Given the description of an element on the screen output the (x, y) to click on. 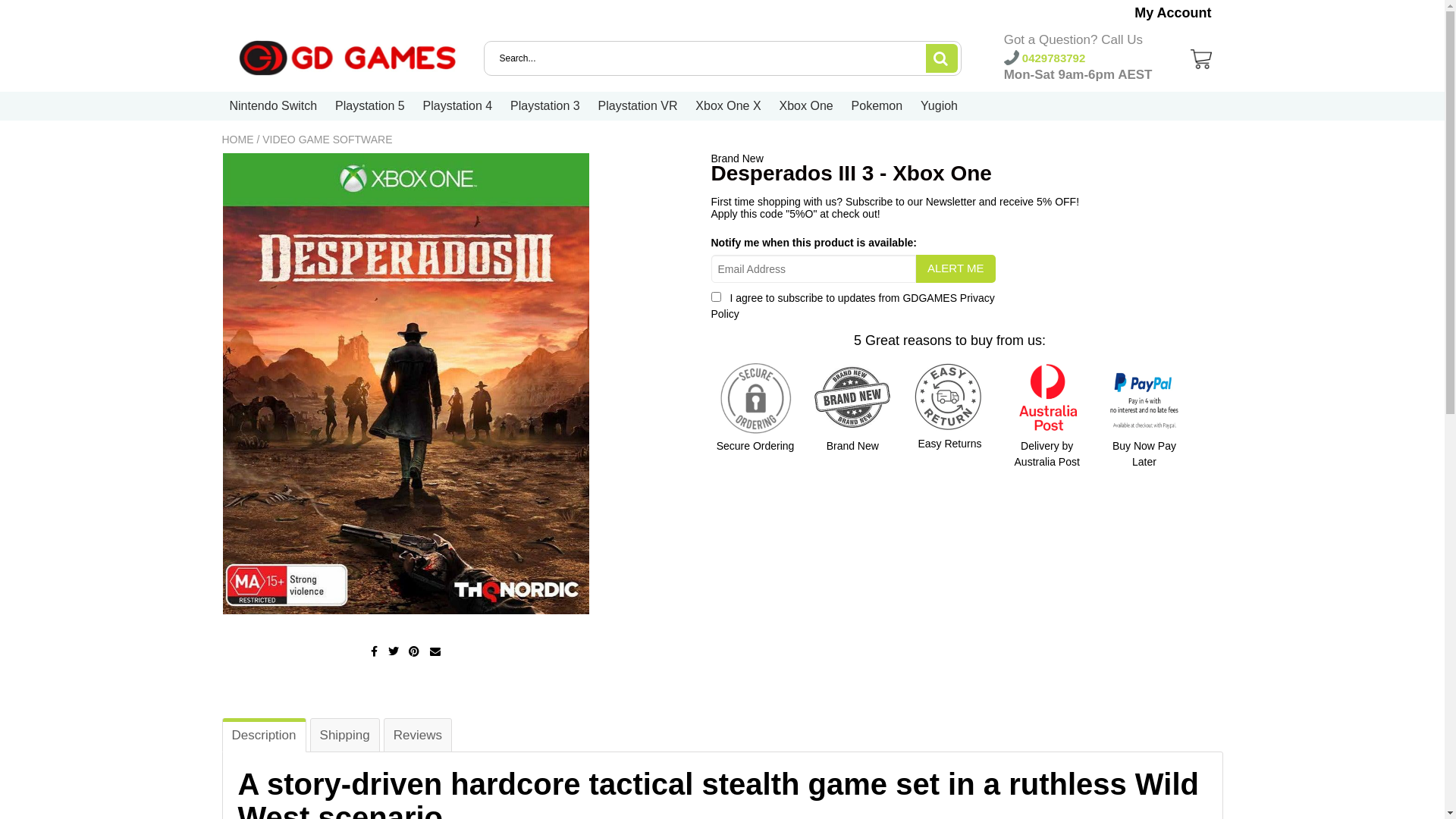
Xbox One Element type: text (806, 105)
Playstation 5 Element type: text (369, 105)
HOME Element type: text (237, 139)
Xbox One X Element type: text (727, 105)
0429783792 Element type: text (1044, 57)
My Account Element type: text (1172, 12)
Playstation 3 Element type: text (545, 105)
Nintendo Switch Element type: text (272, 105)
Reviews Element type: text (417, 735)
Playstation VR Element type: text (637, 105)
Alert Me Element type: text (955, 268)
Shipping Element type: text (344, 735)
Pokemon Element type: text (877, 105)
Yugioh Element type: text (938, 105)
VIDEO GAME SOFTWARE Element type: text (327, 139)
Privacy Policy Element type: text (852, 305)
Description Element type: text (263, 735)
Playstation 4 Element type: text (457, 105)
